Given the description of an element on the screen output the (x, y) to click on. 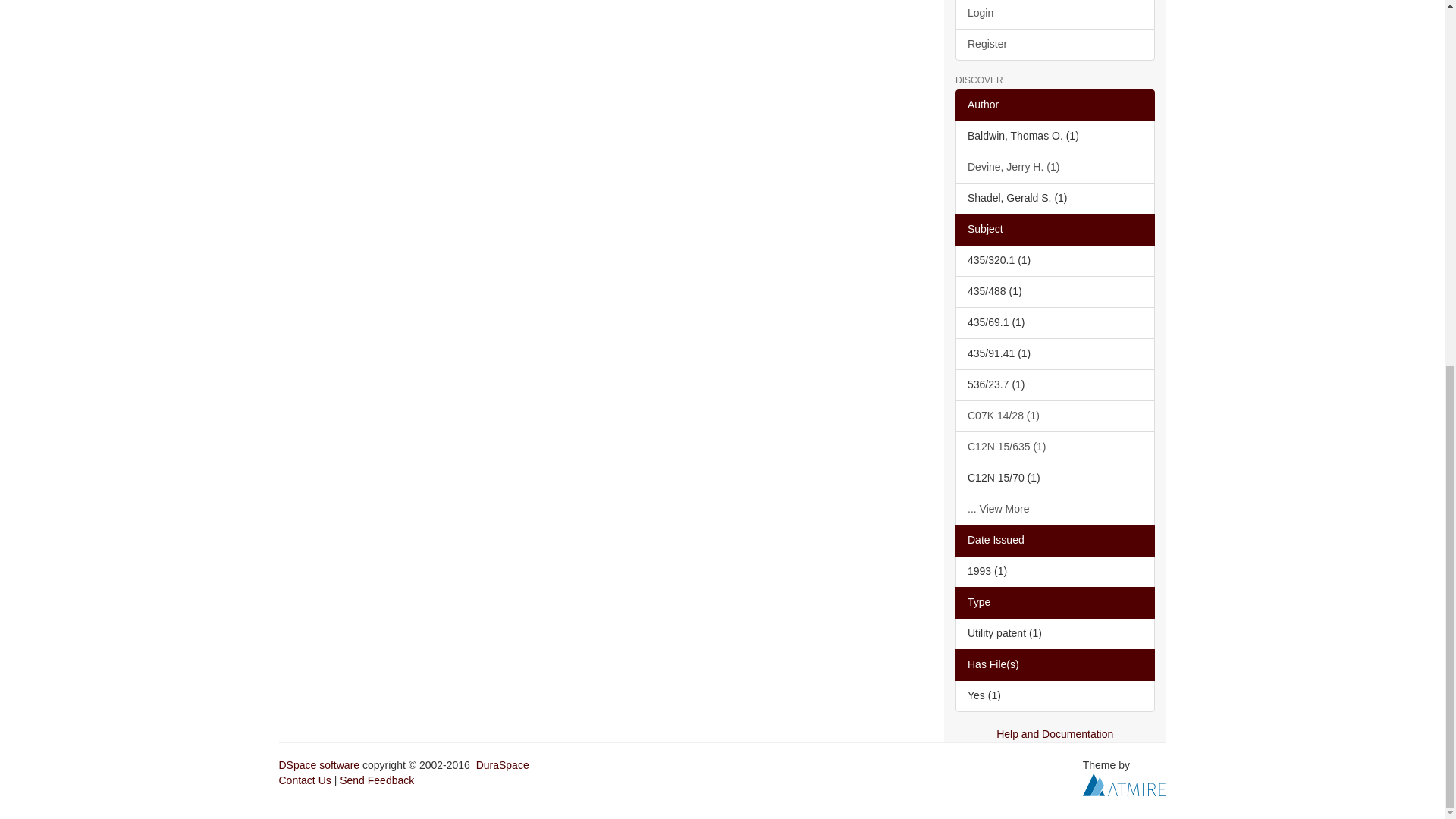
Atmire NV (1124, 783)
